Given the description of an element on the screen output the (x, y) to click on. 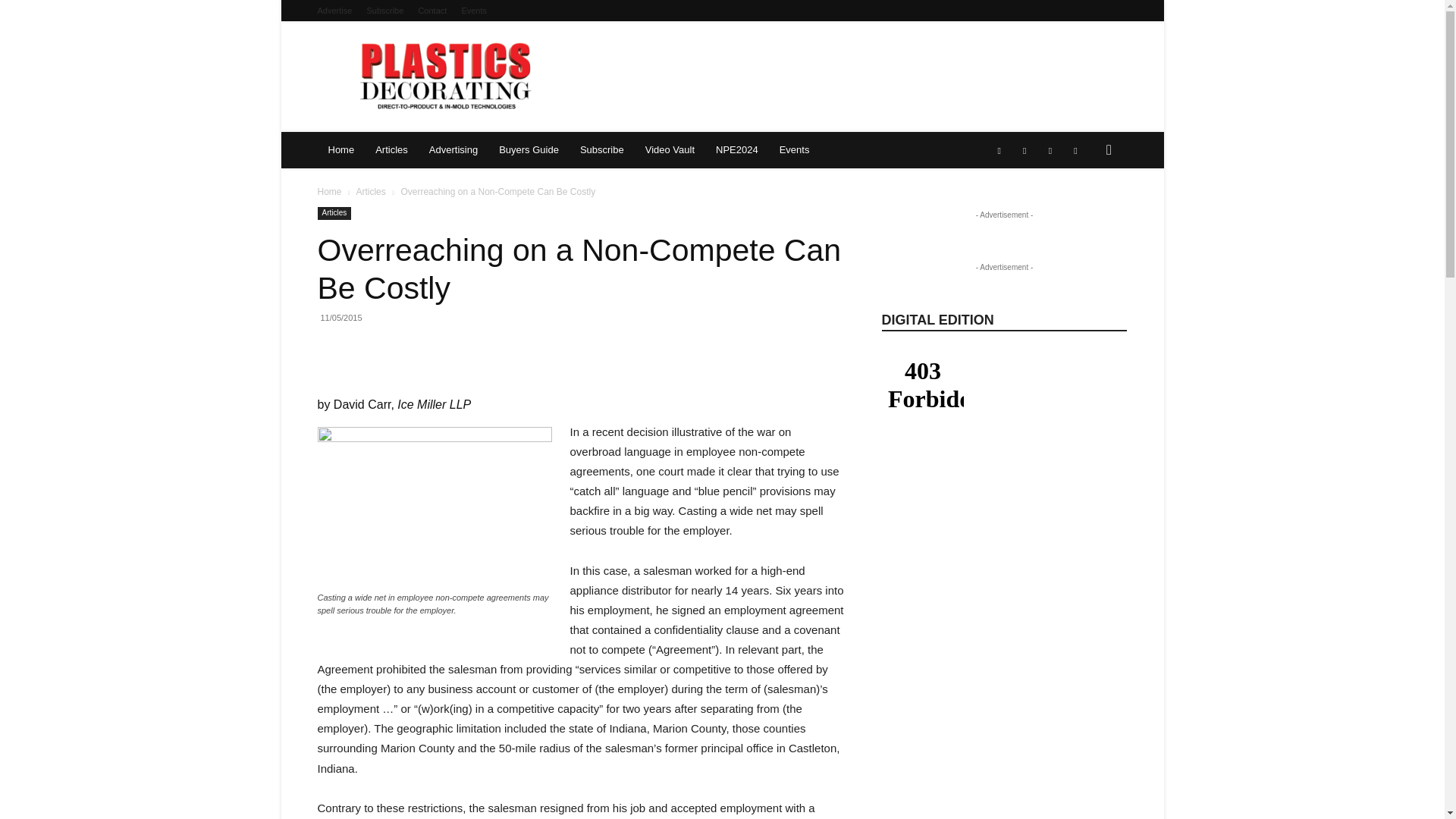
Home (341, 149)
View all posts in Articles (370, 191)
Advertise (334, 10)
Mail (1050, 149)
Events (473, 10)
Contact (431, 10)
Articles (392, 149)
Subscribe (384, 10)
Linkedin (1024, 149)
Advertising (453, 149)
Twitter (1075, 149)
Facebook (999, 149)
Plastics Decorating Magazine (446, 76)
